Given the description of an element on the screen output the (x, y) to click on. 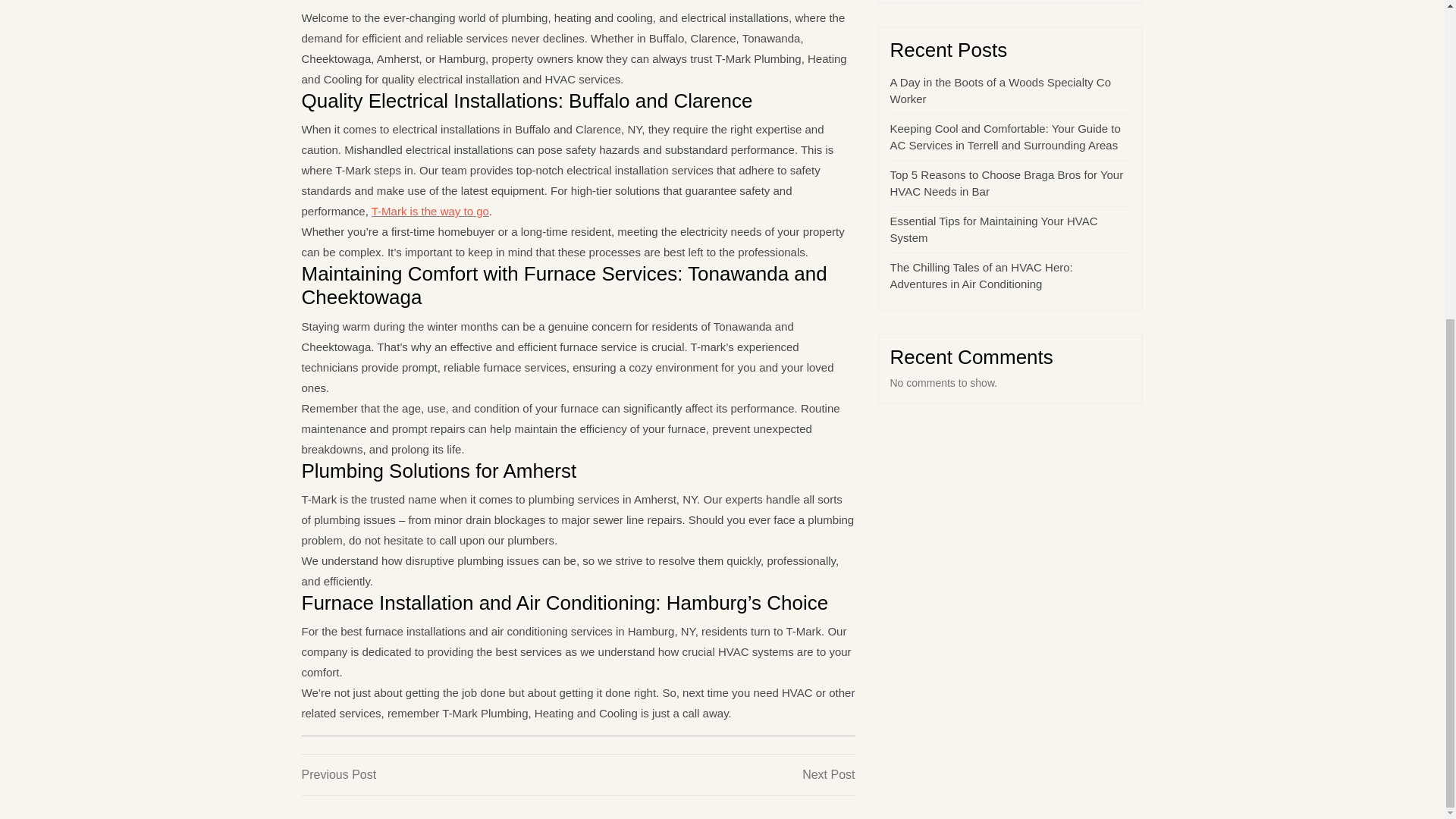
Essential Tips for Maintaining Your HVAC System (993, 229)
A Day in the Boots of a Woods Specialty Co Worker (439, 774)
T-Mark is the way to go (1000, 91)
